Given the description of an element on the screen output the (x, y) to click on. 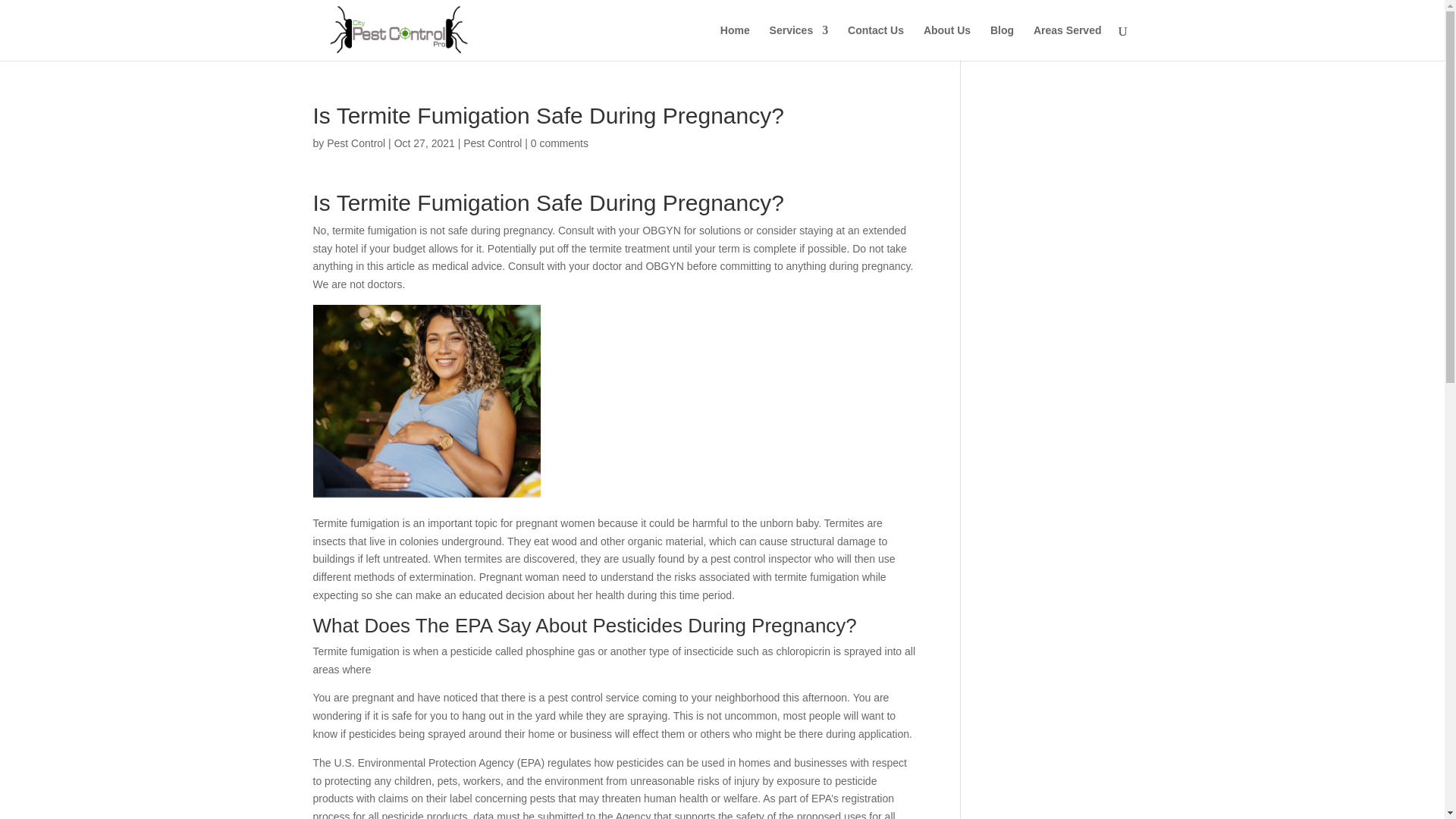
Posts by Pest Control (355, 143)
Areas Served (1067, 42)
Services (799, 42)
Contact Us (875, 42)
Pest Control (492, 143)
About Us (947, 42)
0 comments (559, 143)
Pest Control (355, 143)
